Given the description of an element on the screen output the (x, y) to click on. 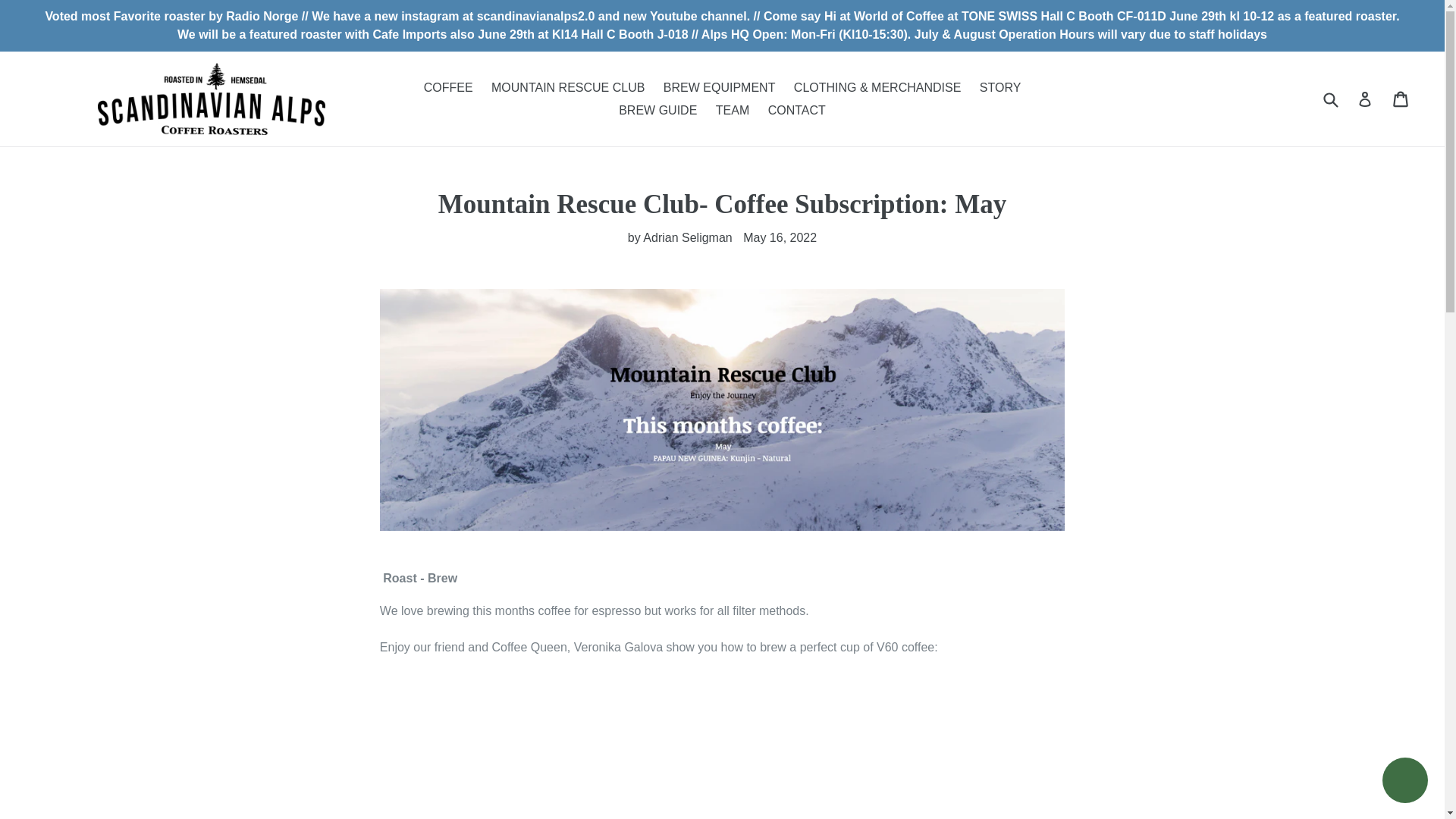
BREW EQUIPMENT (719, 87)
CONTACT (796, 109)
MOUNTAIN RESCUE CLUB (567, 87)
Shopify online store chat (1404, 781)
YouTube video player (722, 761)
COFFEE (448, 87)
BREW GUIDE (657, 109)
STORY (1000, 87)
TEAM (732, 109)
